Given the description of an element on the screen output the (x, y) to click on. 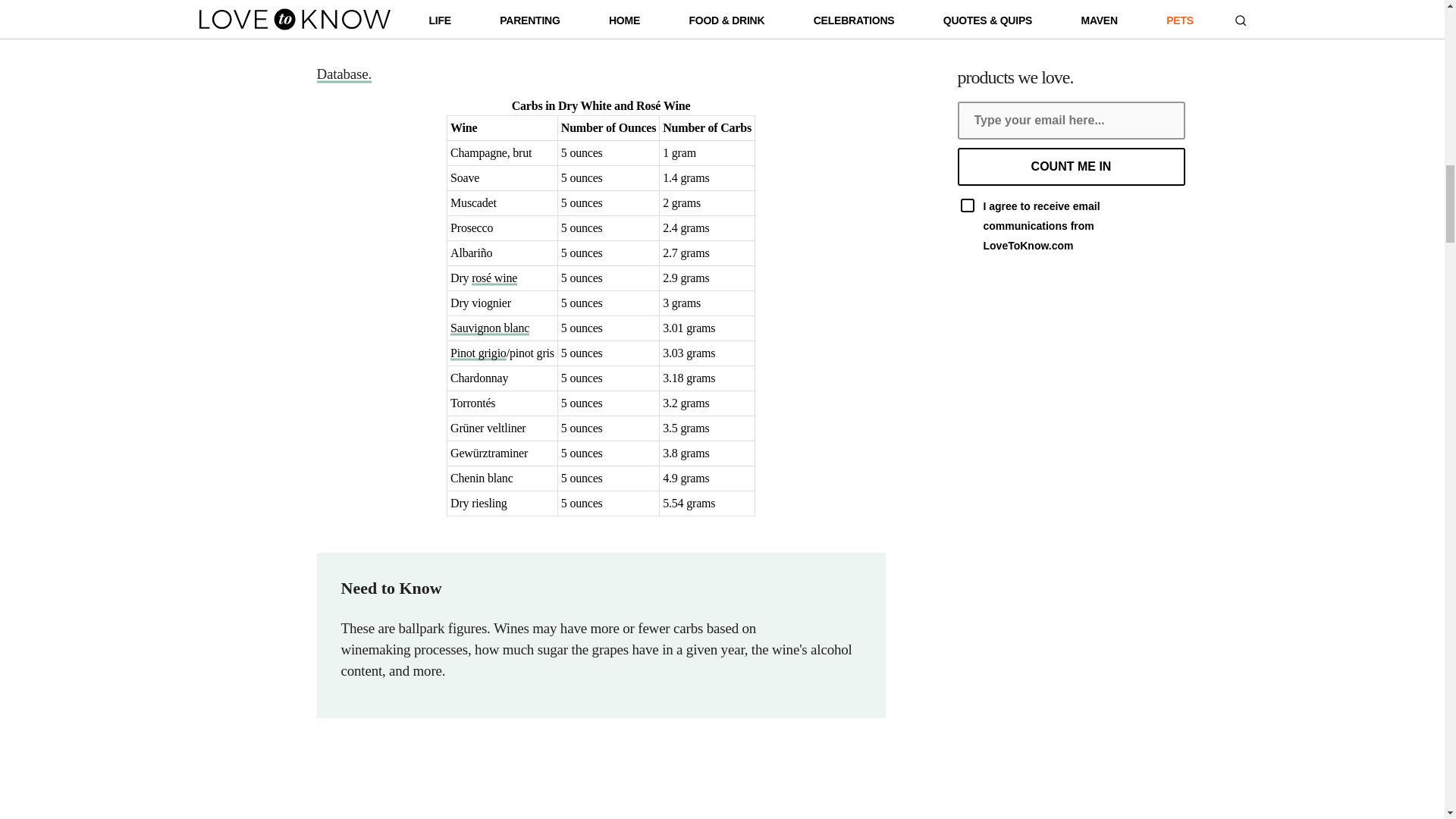
on (966, 205)
An Introduction to Pinot Grigio (477, 352)
Popular Types of White Wine (593, 52)
